Given the description of an element on the screen output the (x, y) to click on. 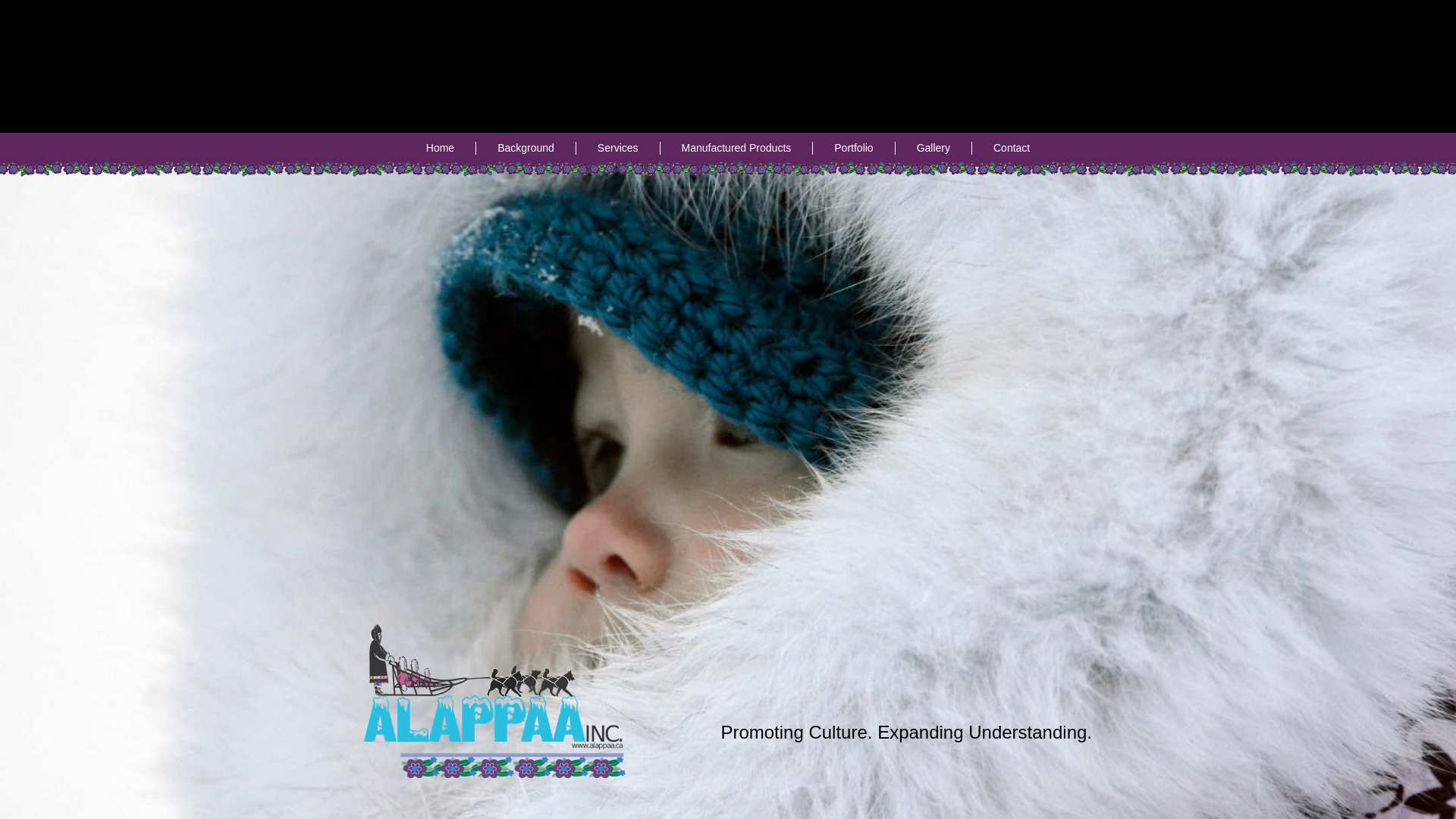
Manufactured Products Element type: text (736, 147)
Services Element type: text (618, 147)
Background Element type: text (526, 147)
Portfolio Element type: text (853, 147)
Gallery Element type: text (933, 147)
Contact Element type: text (1011, 147)
Alappaa Home Element type: hover (538, 701)
Home Element type: text (440, 147)
